Given the description of an element on the screen output the (x, y) to click on. 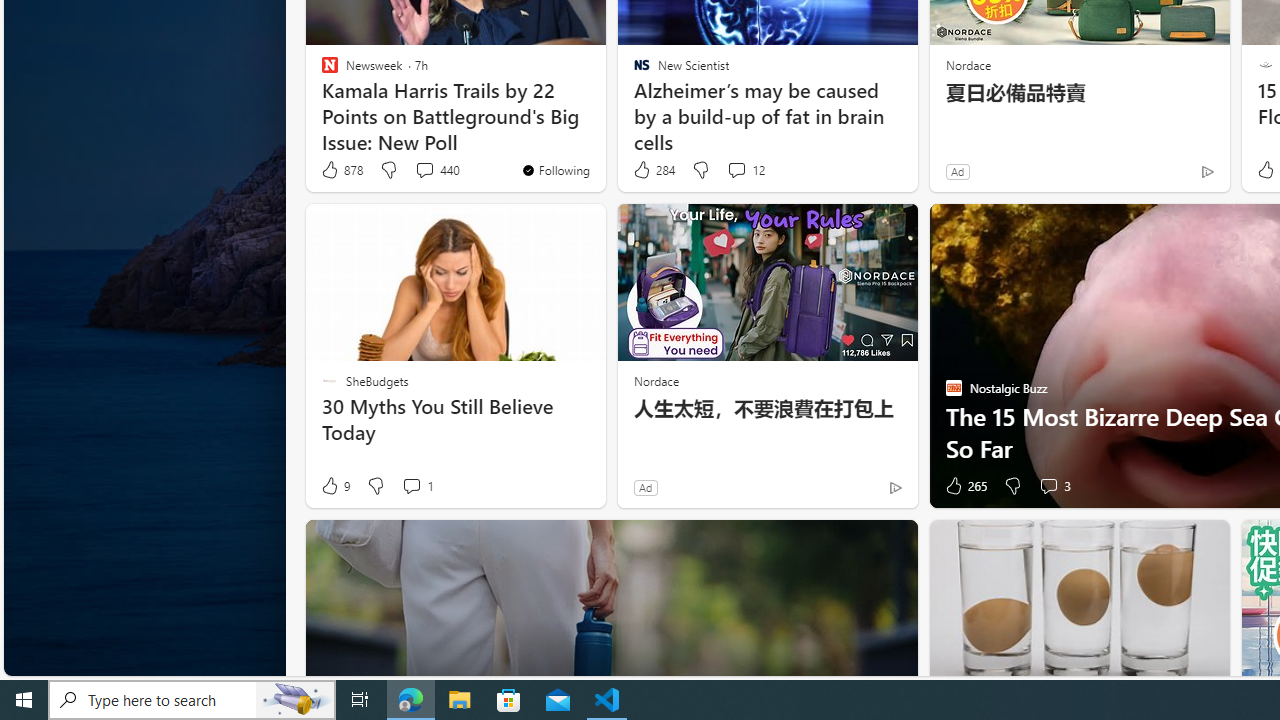
View comments 3 Comment (1048, 485)
View comments 440 Comment (424, 169)
284 Like (653, 170)
